Given the description of an element on the screen output the (x, y) to click on. 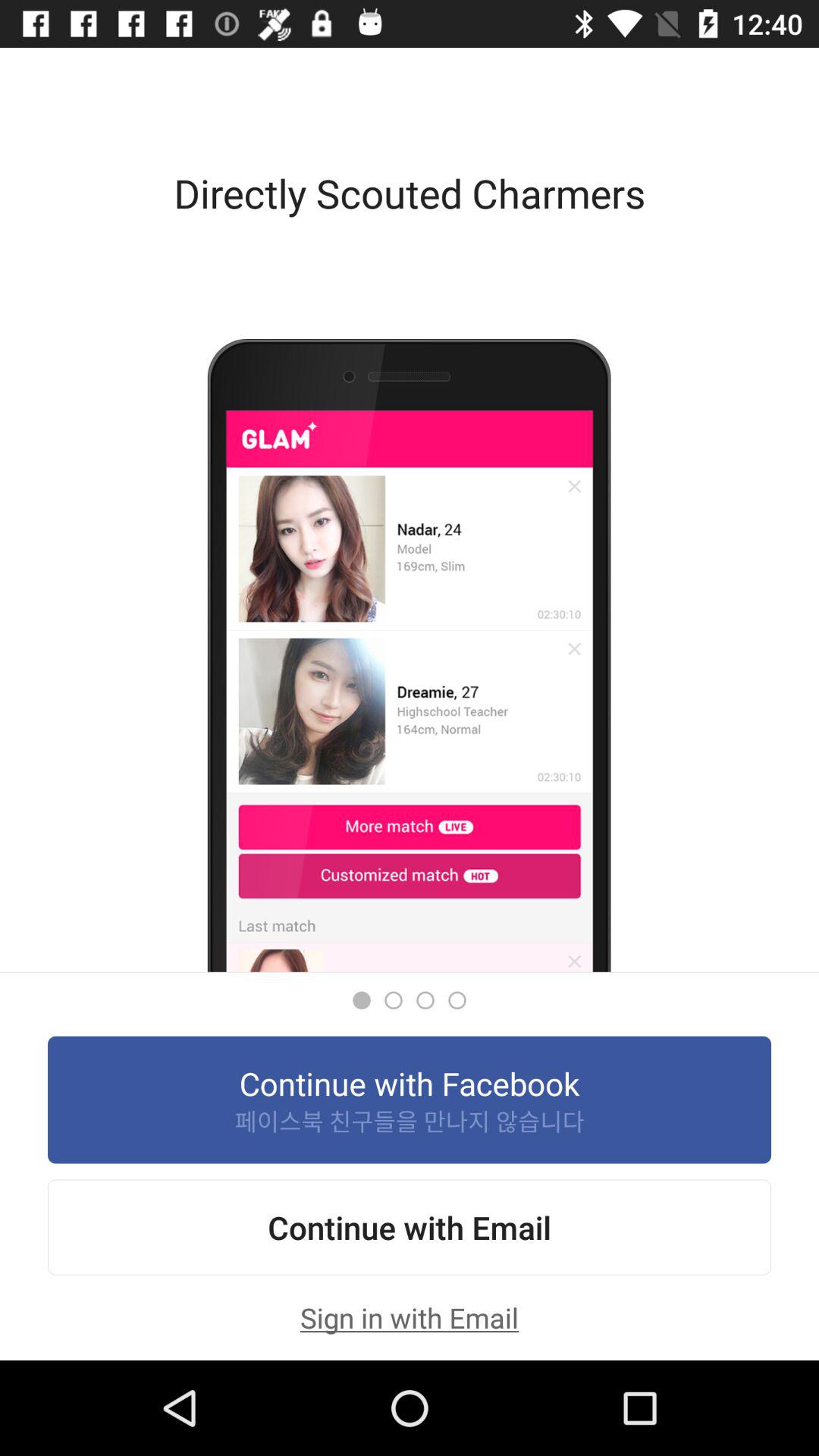
swipe to the sign in with icon (409, 1317)
